Given the description of an element on the screen output the (x, y) to click on. 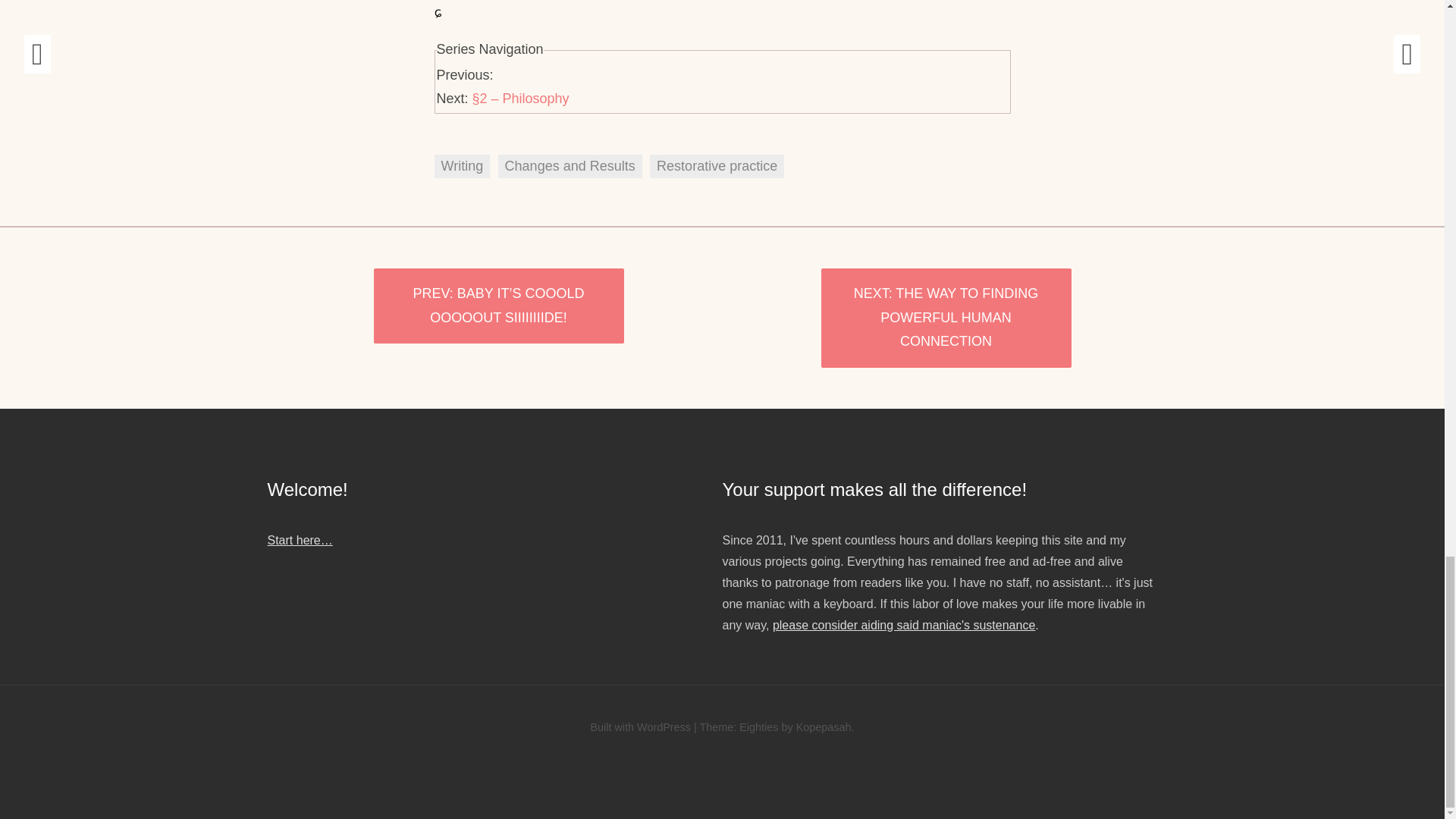
Restorative practice (716, 166)
please consider aiding said maniac's sustenance (904, 625)
Built with WordPress (639, 727)
Writing (461, 166)
Eighties (758, 727)
Kopepasah (823, 727)
Changes and Results (569, 166)
THE WAY TO FINDING POWERFUL HUMAN CONNECTION (945, 317)
